Given the description of an element on the screen output the (x, y) to click on. 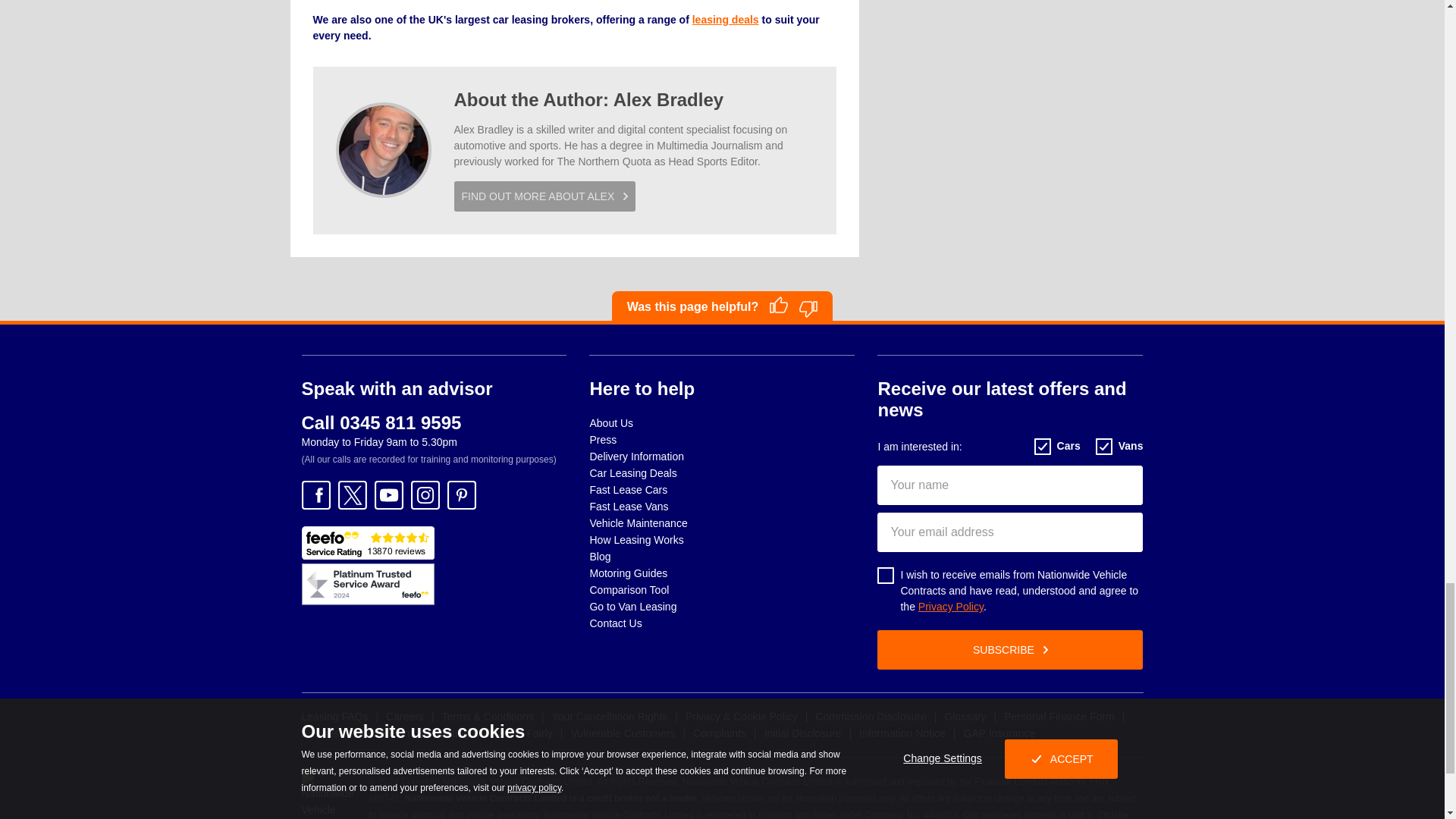
yes (778, 304)
Twitter (351, 494)
Facebook (315, 494)
YouTube (388, 494)
Instagram (424, 494)
no (807, 309)
